Given the description of an element on the screen output the (x, y) to click on. 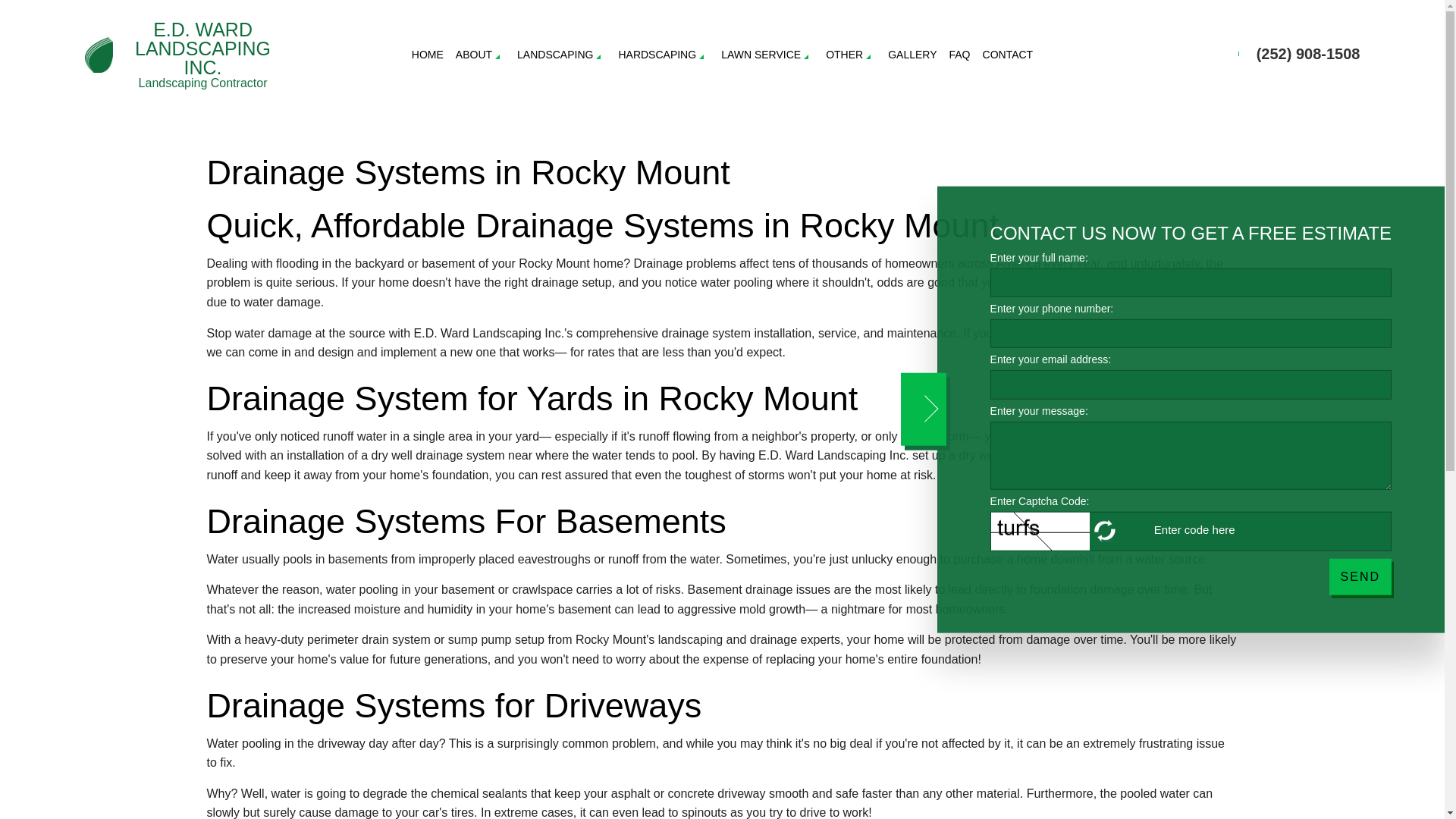
E.D. Ward Landscaping Inc. (98, 53)
Captcha Code (1225, 529)
Phone Number (1190, 333)
Email Address (1190, 384)
Full Name (1190, 282)
Refresh Captcha (1105, 531)
Your Message (1190, 454)
